Given the description of an element on the screen output the (x, y) to click on. 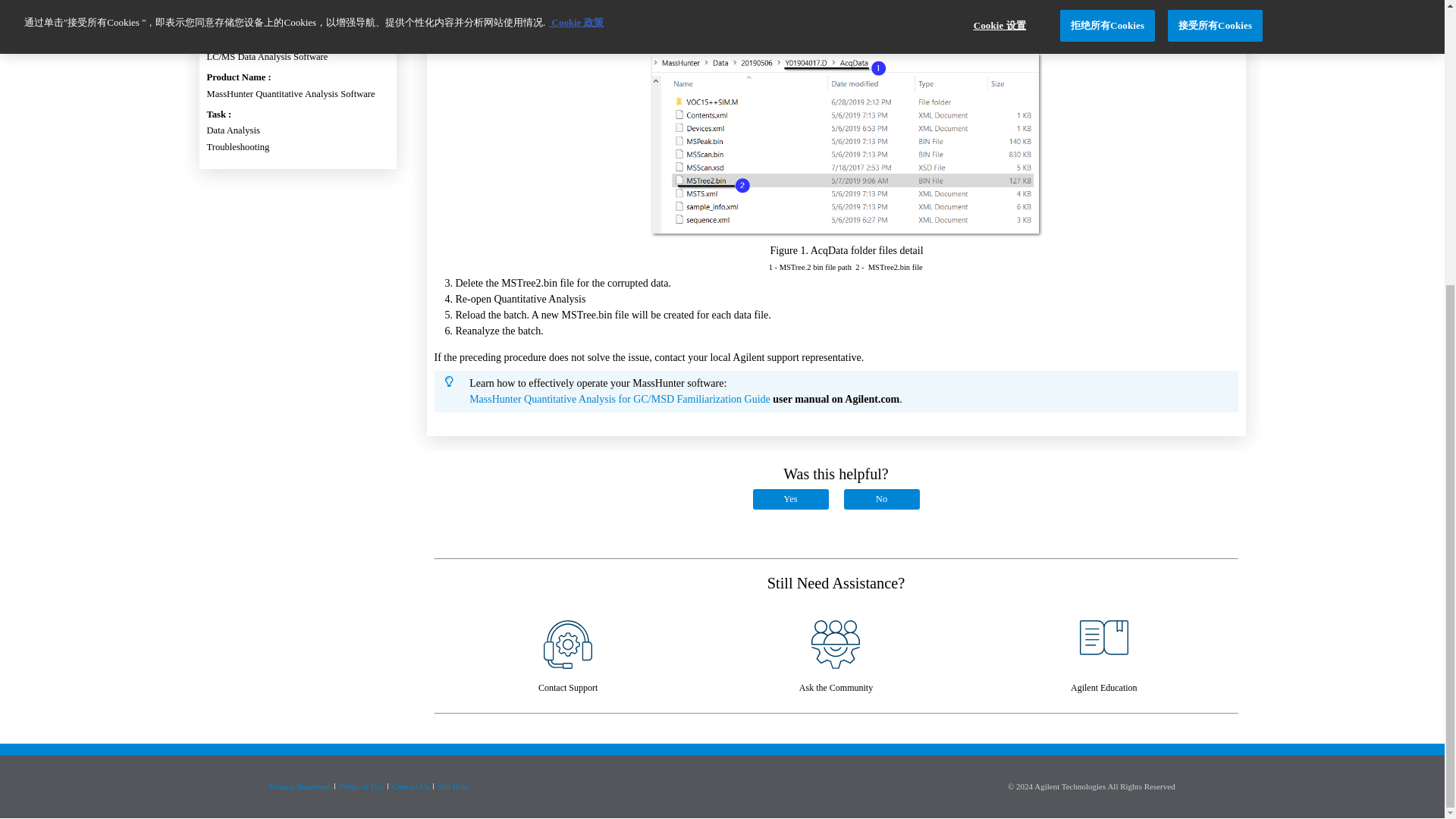
Figure 1 (644, 38)
